Given the description of an element on the screen output the (x, y) to click on. 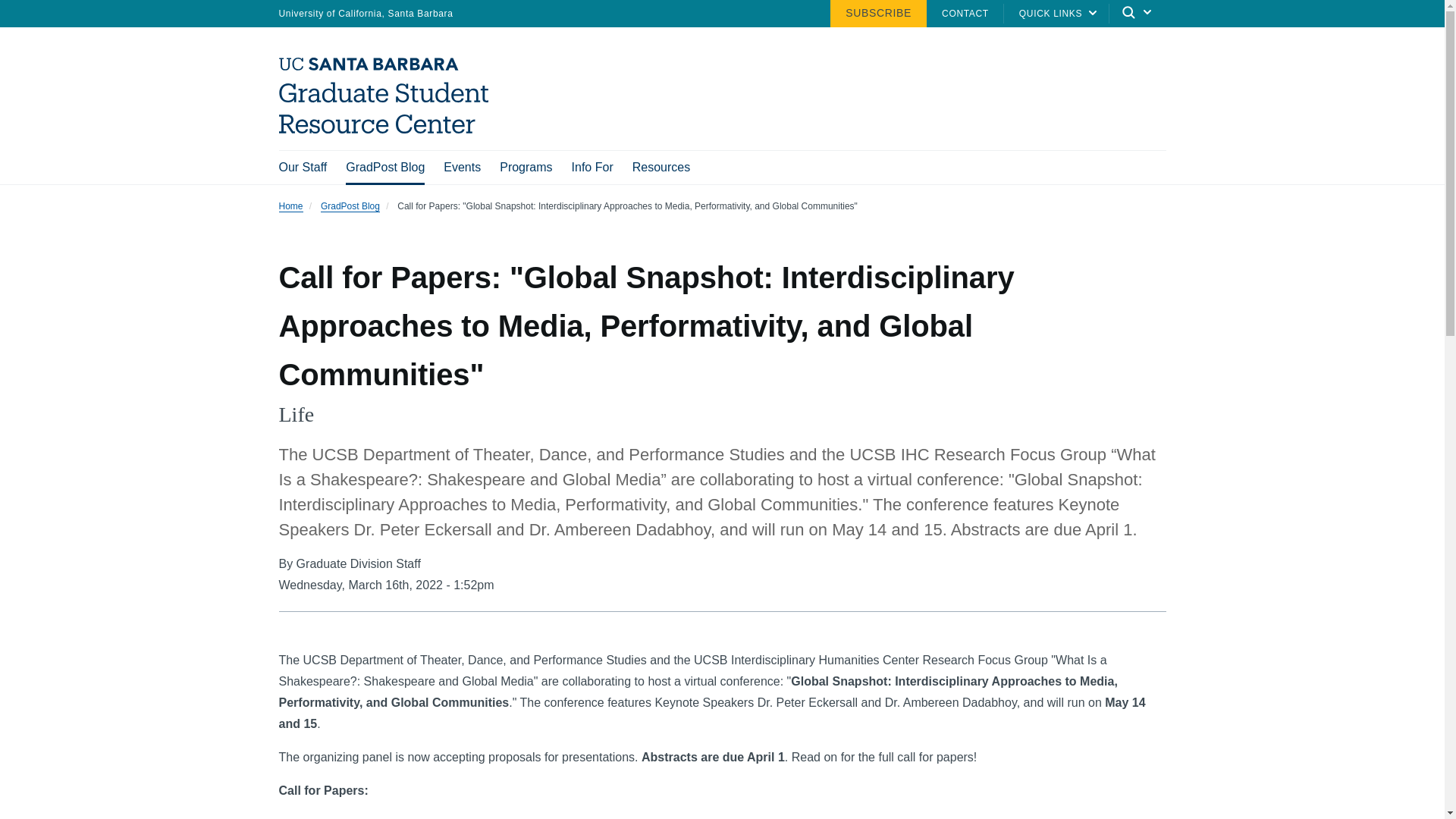
Events (462, 167)
SUBSCRIBE (877, 12)
CONTACT (965, 12)
Our Staff (303, 167)
GradPost Blog (385, 167)
Programs (525, 167)
Home (389, 128)
Info For (592, 167)
QUICK LINKS (1050, 12)
University of California, Santa Barbara (365, 12)
Resources (660, 167)
